Given the description of an element on the screen output the (x, y) to click on. 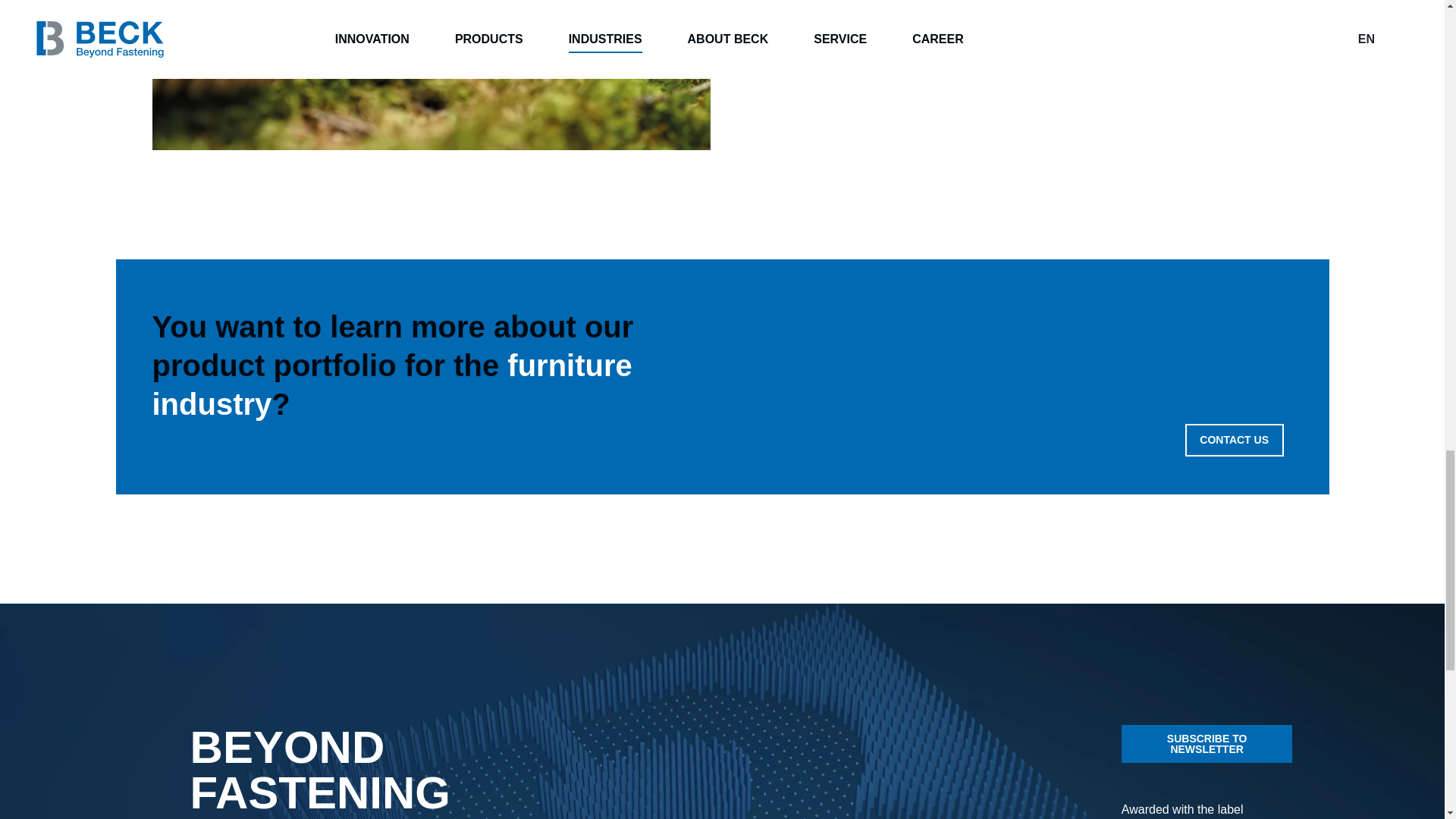
Learn more (880, 46)
Contact us (1234, 440)
Subscribe to newsletter (1206, 743)
